Given the description of an element on the screen output the (x, y) to click on. 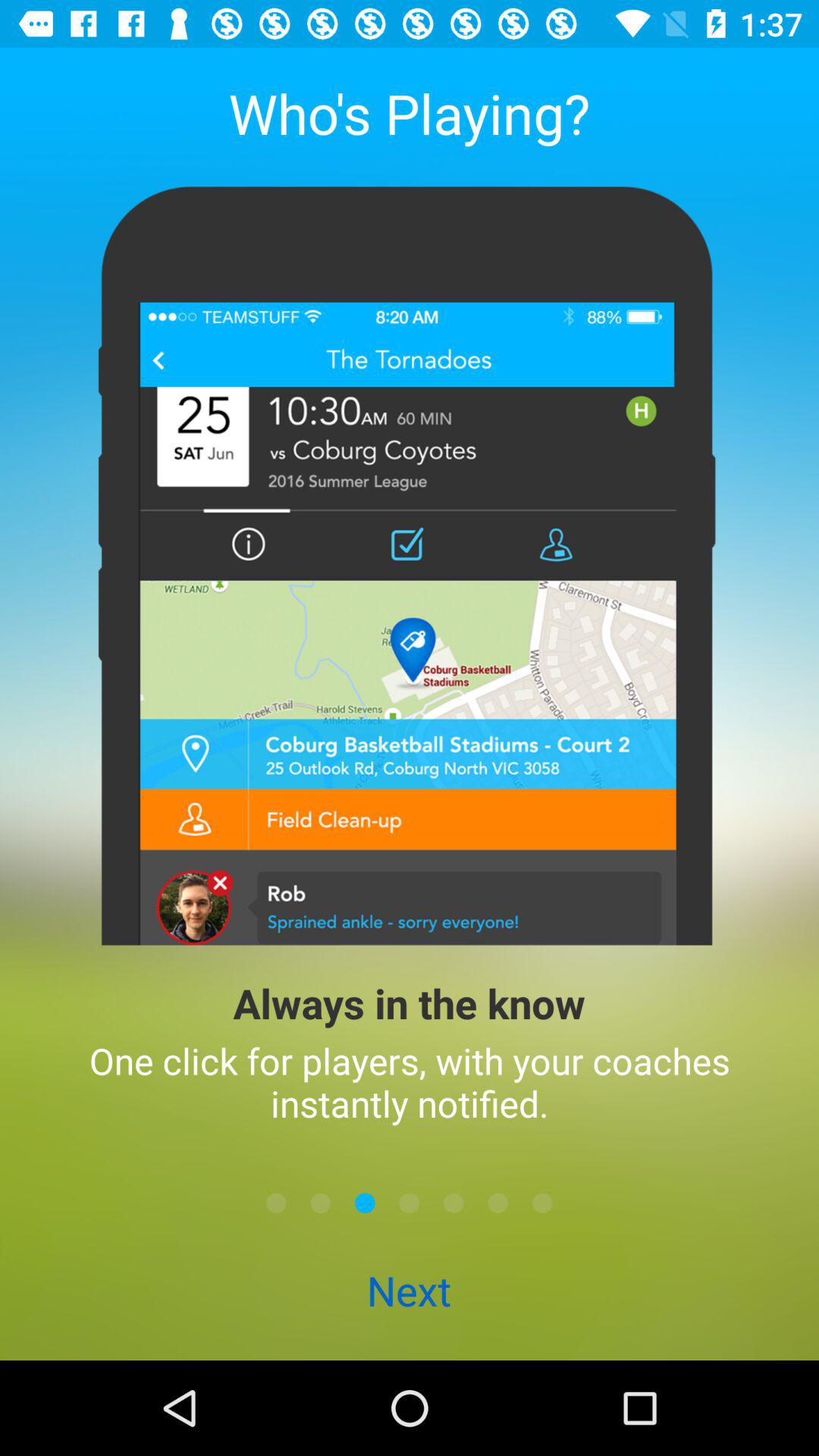
turn on icon above the next icon (276, 1203)
